Given the description of an element on the screen output the (x, y) to click on. 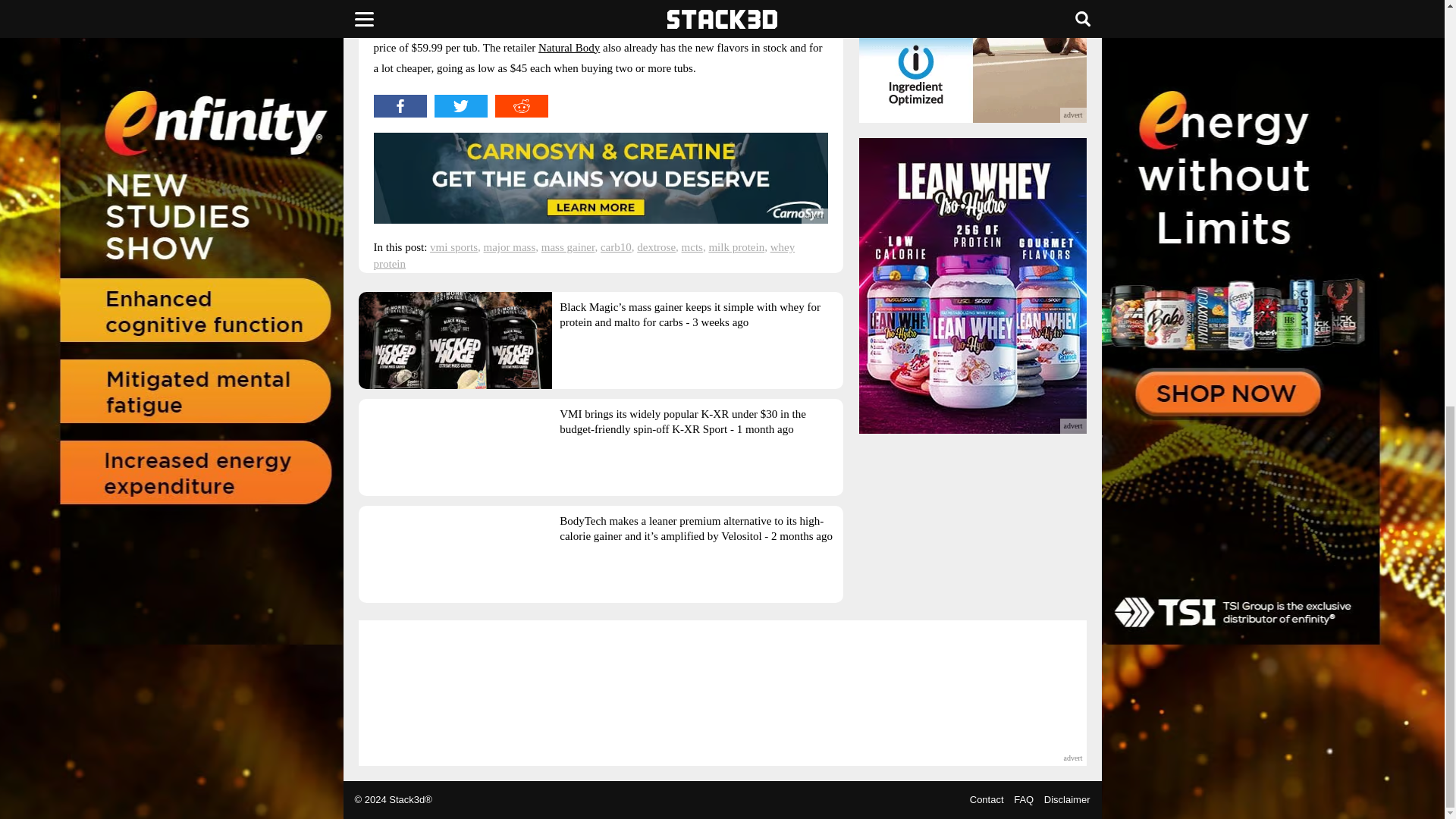
Natural Body (568, 47)
vmisports.com (767, 26)
